Given the description of an element on the screen output the (x, y) to click on. 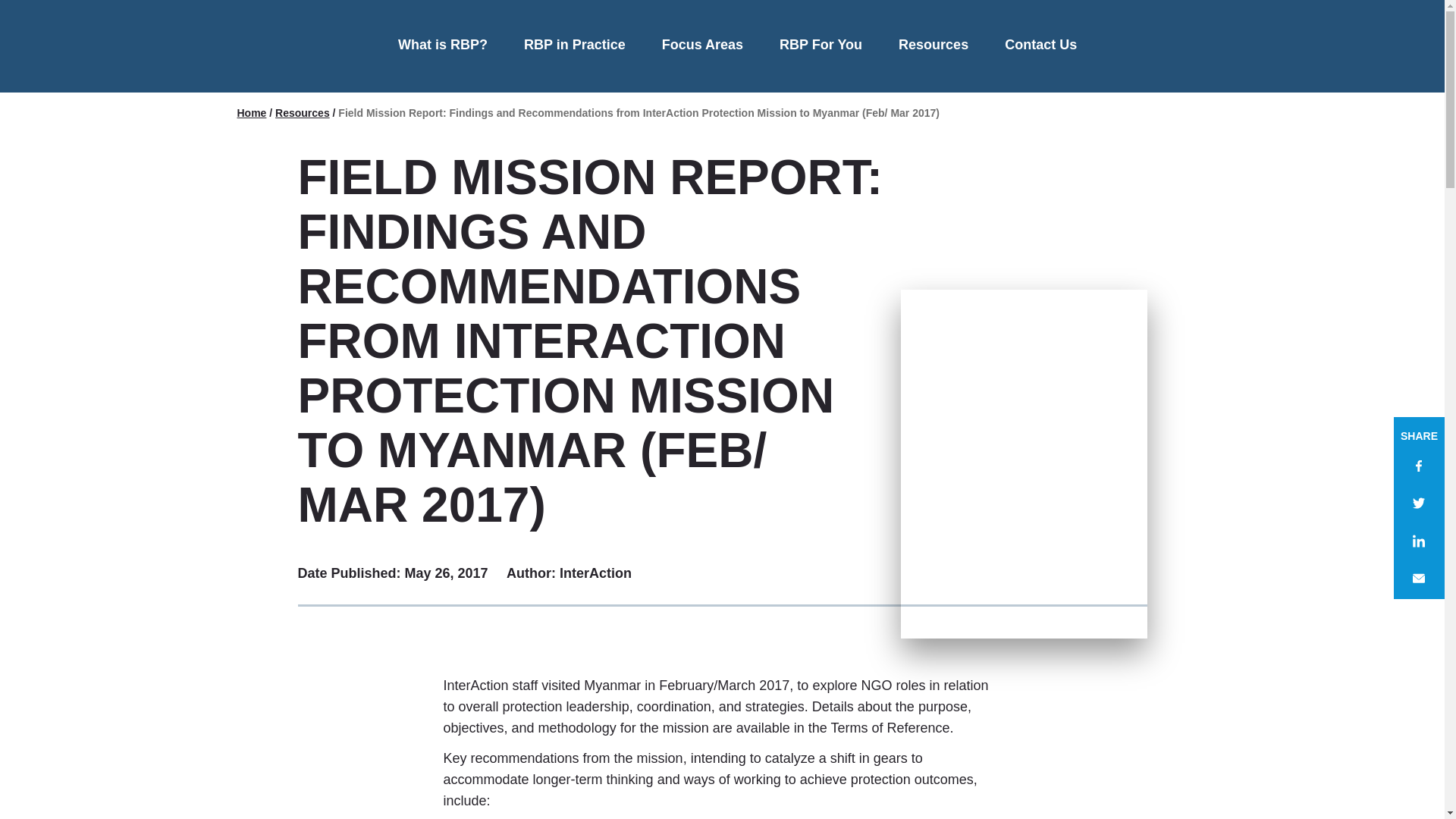
RBP For You (819, 46)
What is RBP? (442, 46)
Focus Areas (702, 46)
Contact Us (1040, 46)
InterAction (278, 45)
RBP in Practice (575, 46)
Resources (933, 46)
